Given the description of an element on the screen output the (x, y) to click on. 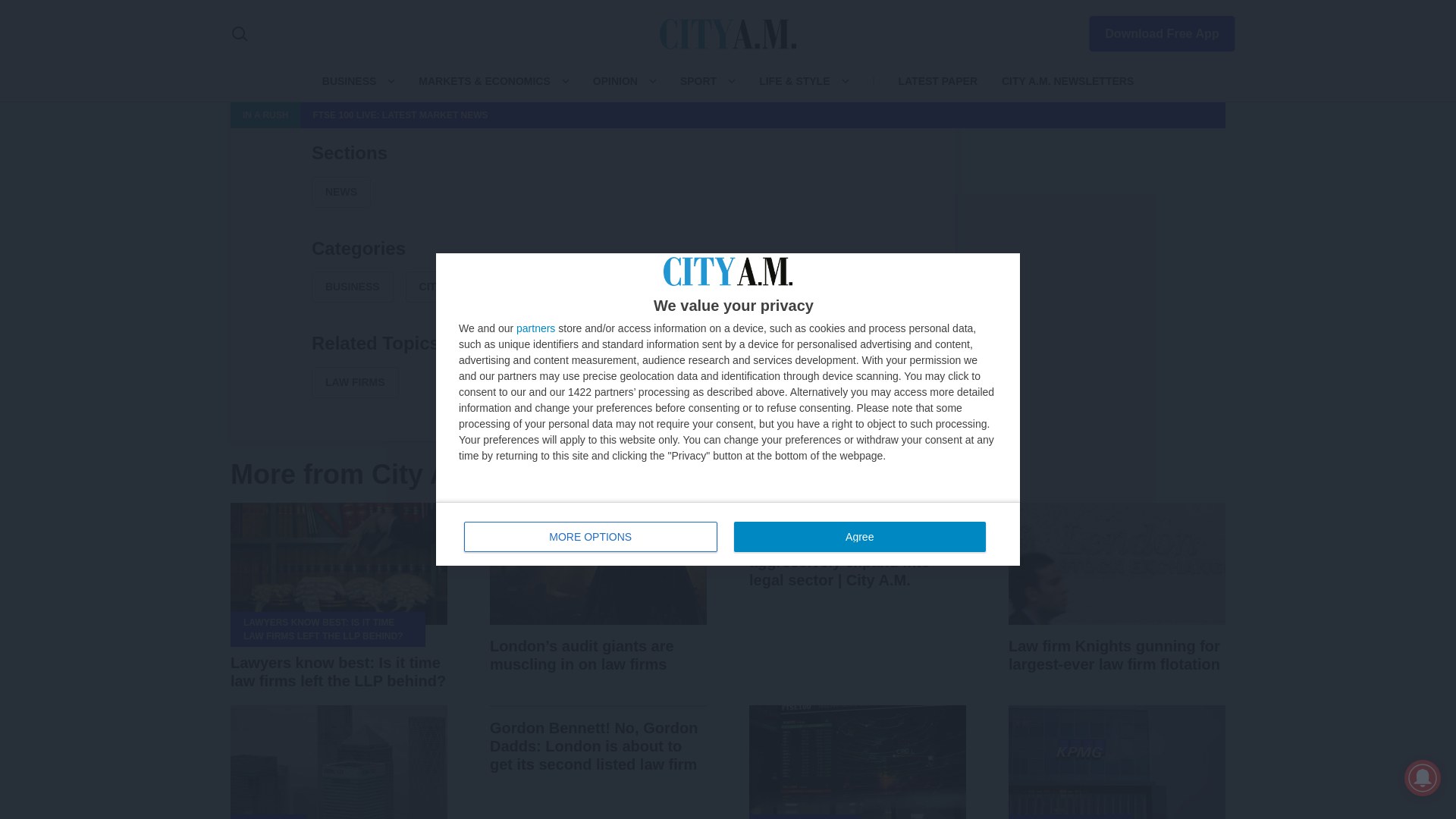
Email (665, 103)
LinkedIn (592, 103)
Facebook (520, 103)
WhatsApp (629, 103)
X (556, 103)
